Given the description of an element on the screen output the (x, y) to click on. 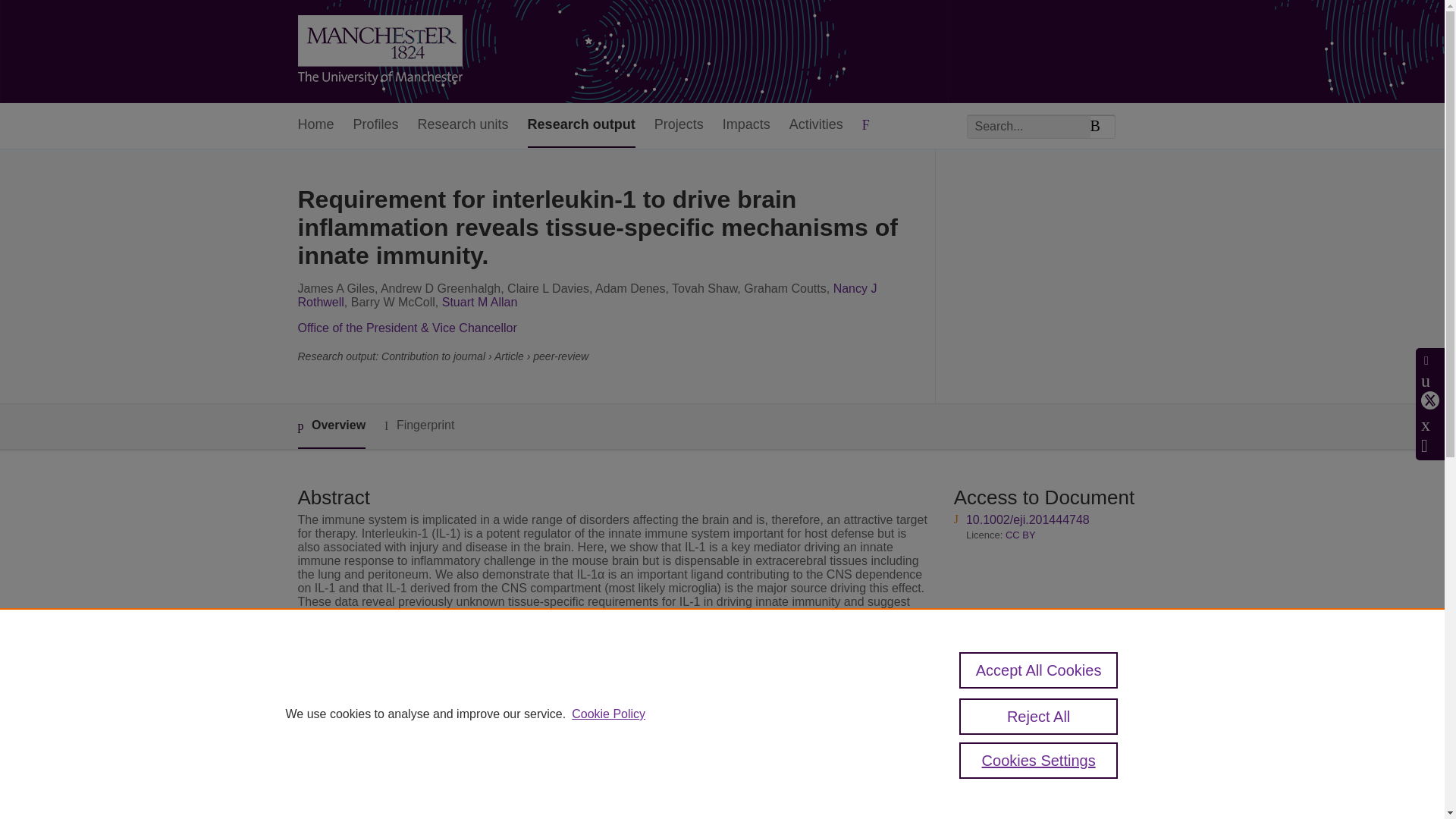
Research output (580, 125)
Overview (331, 426)
Impacts (746, 125)
Stuart M Allan (480, 301)
Activities (816, 125)
Projects (678, 125)
Profiles (375, 125)
European journal of immunology (595, 712)
Fingerprint (419, 425)
